Given the description of an element on the screen output the (x, y) to click on. 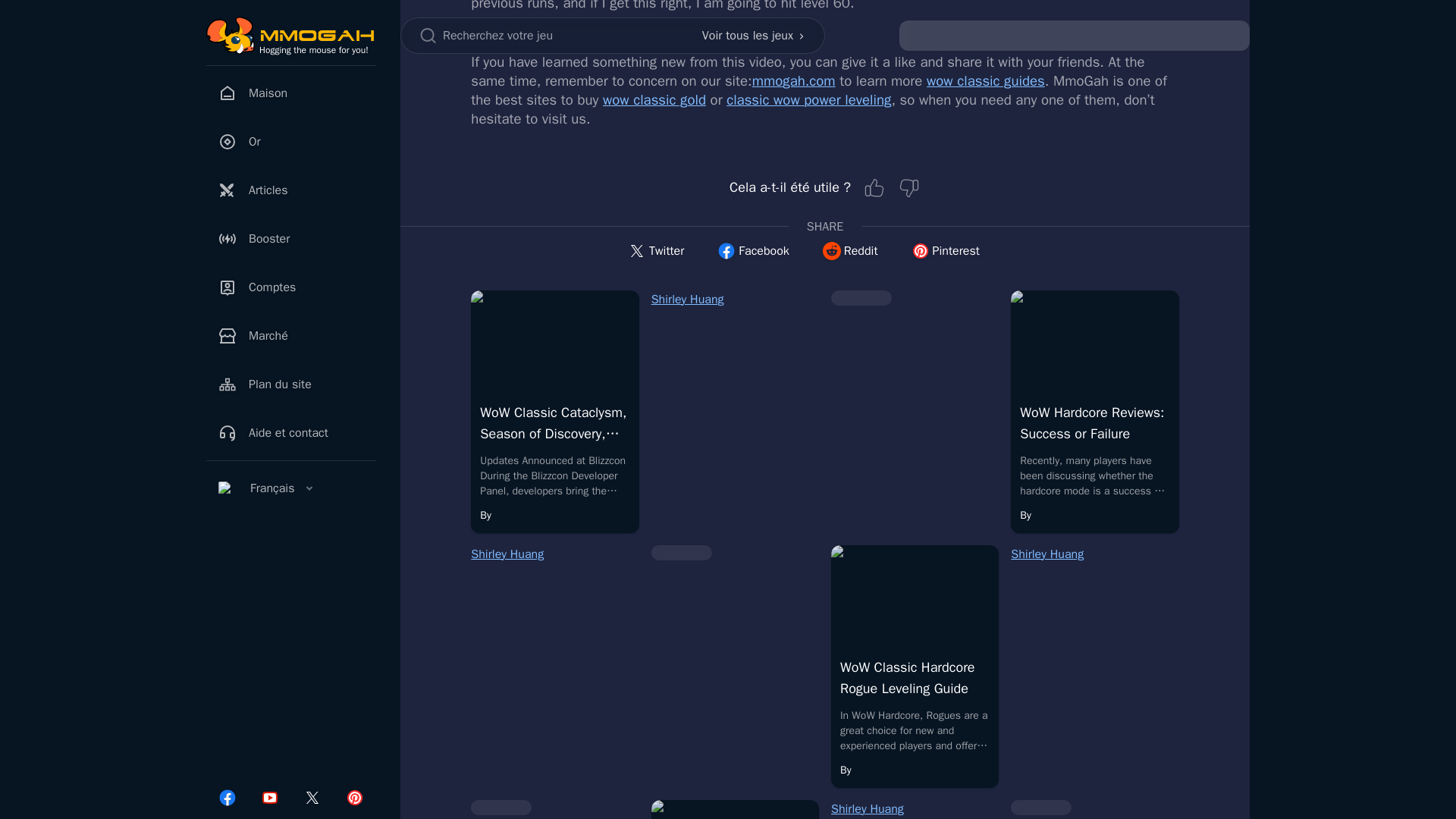
Twitter (655, 250)
Reddit (850, 250)
Pinterest (945, 250)
classic wow power leveling (808, 99)
wow classic gold (654, 99)
Facebook (752, 250)
wow classic guides (985, 81)
mmogah.com (793, 81)
